Given the description of an element on the screen output the (x, y) to click on. 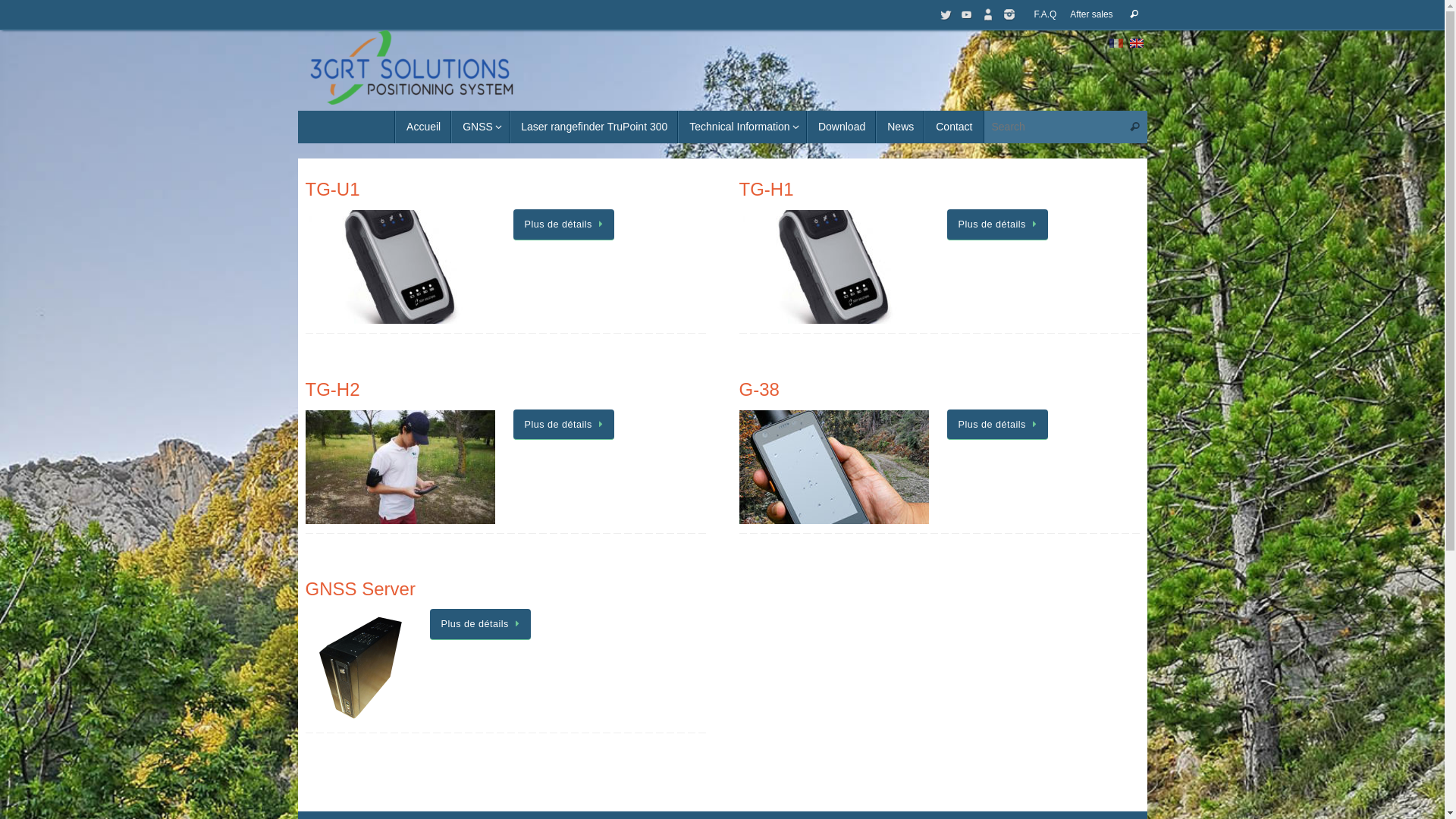
Search Element type: text (1134, 14)
After sales Element type: text (1090, 15)
News Element type: text (899, 126)
AboutMe Element type: hover (987, 14)
Contact Element type: text (953, 126)
Laser rangefinder TruPoint 300 Element type: text (593, 126)
Technical Information Element type: text (741, 126)
G-38 Element type: text (758, 389)
English (en) Element type: hover (1136, 42)
TG-H1 Element type: text (765, 188)
GNSS Element type: text (480, 126)
YouTube Element type: hover (966, 14)
TG-H2 Element type: text (331, 389)
Skip to content Element type: text (297, 133)
Twitter Element type: hover (945, 14)
Accueil Element type: text (423, 126)
GNSS Server Element type: text (359, 588)
Instagram Element type: hover (1008, 14)
Search Element type: text (1135, 126)
F.A.Q Element type: text (1045, 15)
3GRT Solutions Element type: hover (410, 67)
Download Element type: text (840, 126)
TG-U1 Element type: text (331, 188)
